Given the description of an element on the screen output the (x, y) to click on. 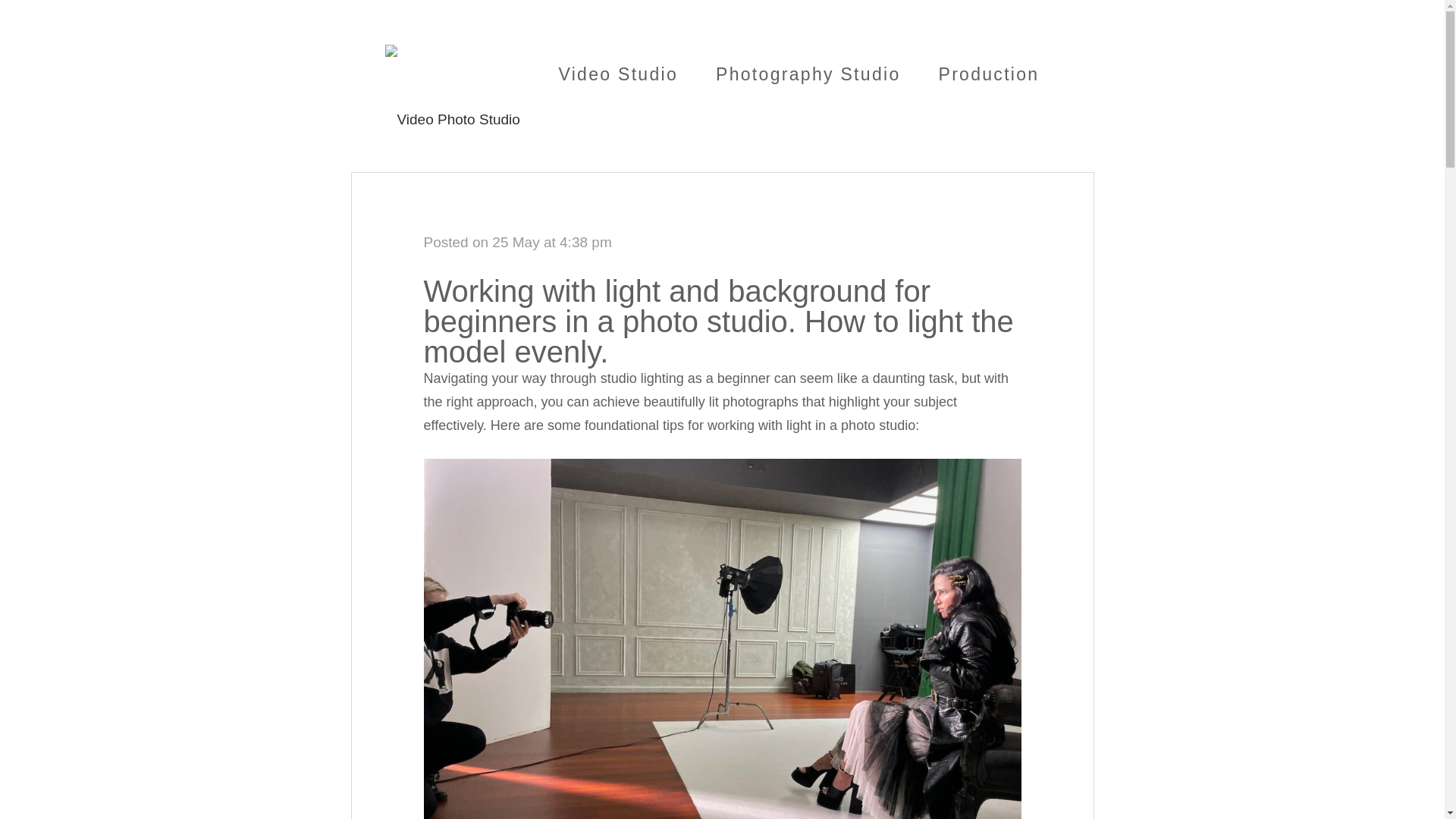
Header (452, 118)
Production (988, 74)
Photography Studio (807, 74)
Video Studio (617, 74)
